Given the description of an element on the screen output the (x, y) to click on. 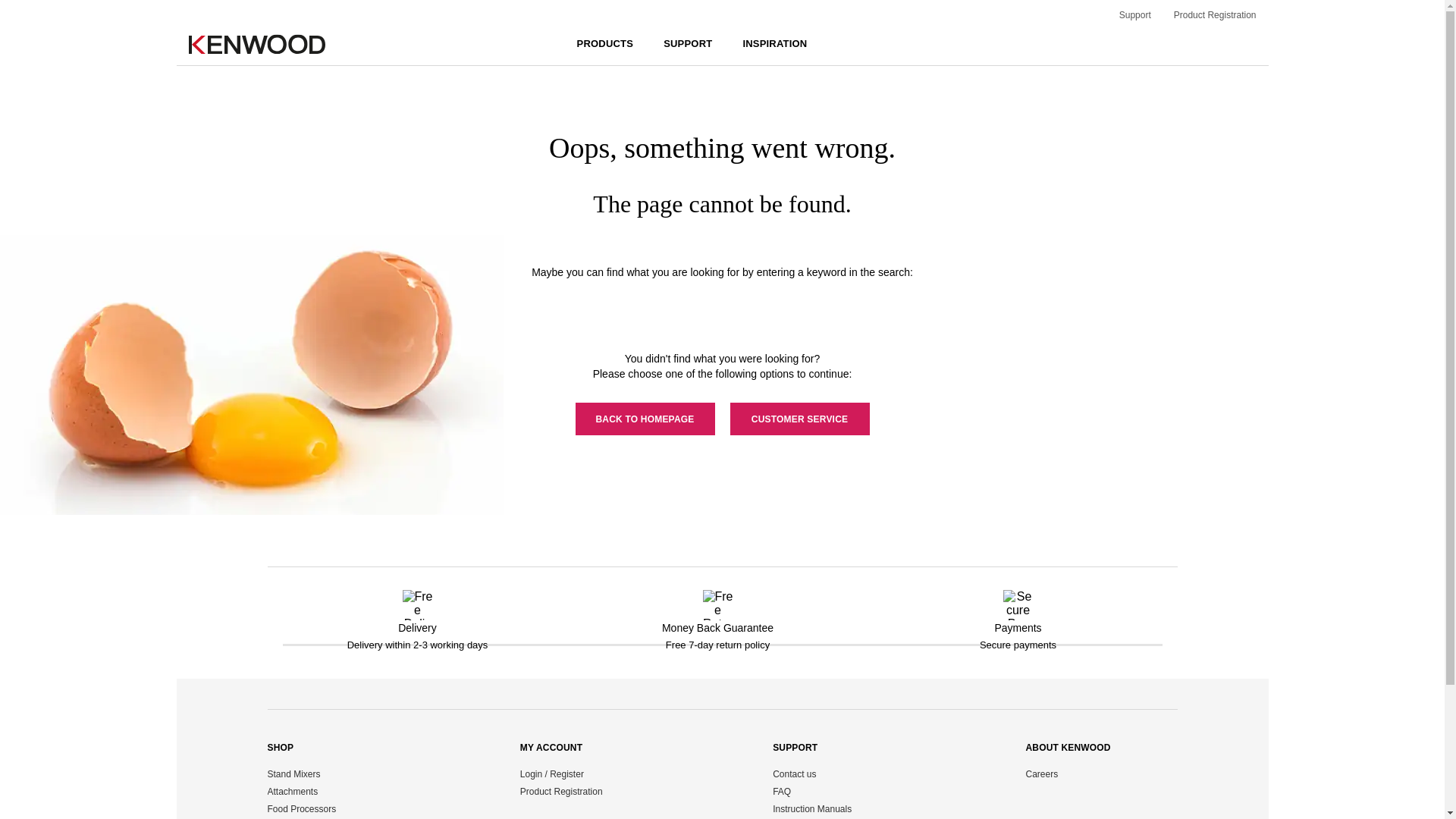
PRODUCTS (604, 44)
FAQ (781, 791)
INSPIRATION (774, 44)
Support (1135, 14)
Food Processors (301, 808)
SUPPORT (687, 44)
Careers (1041, 774)
Product Registration (560, 791)
Customer service (799, 418)
Stand Mixers (293, 774)
Attachments (291, 791)
Product Registration (1214, 14)
Contact us (794, 774)
Instruction Manuals (812, 808)
Back to homepage (644, 418)
